Given the description of an element on the screen output the (x, y) to click on. 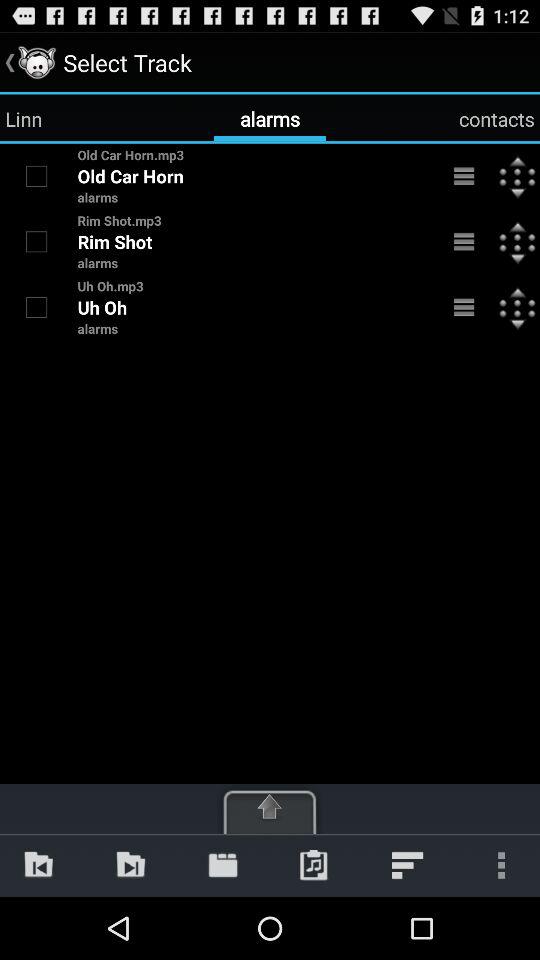
select ring (36, 176)
